Given the description of an element on the screen output the (x, y) to click on. 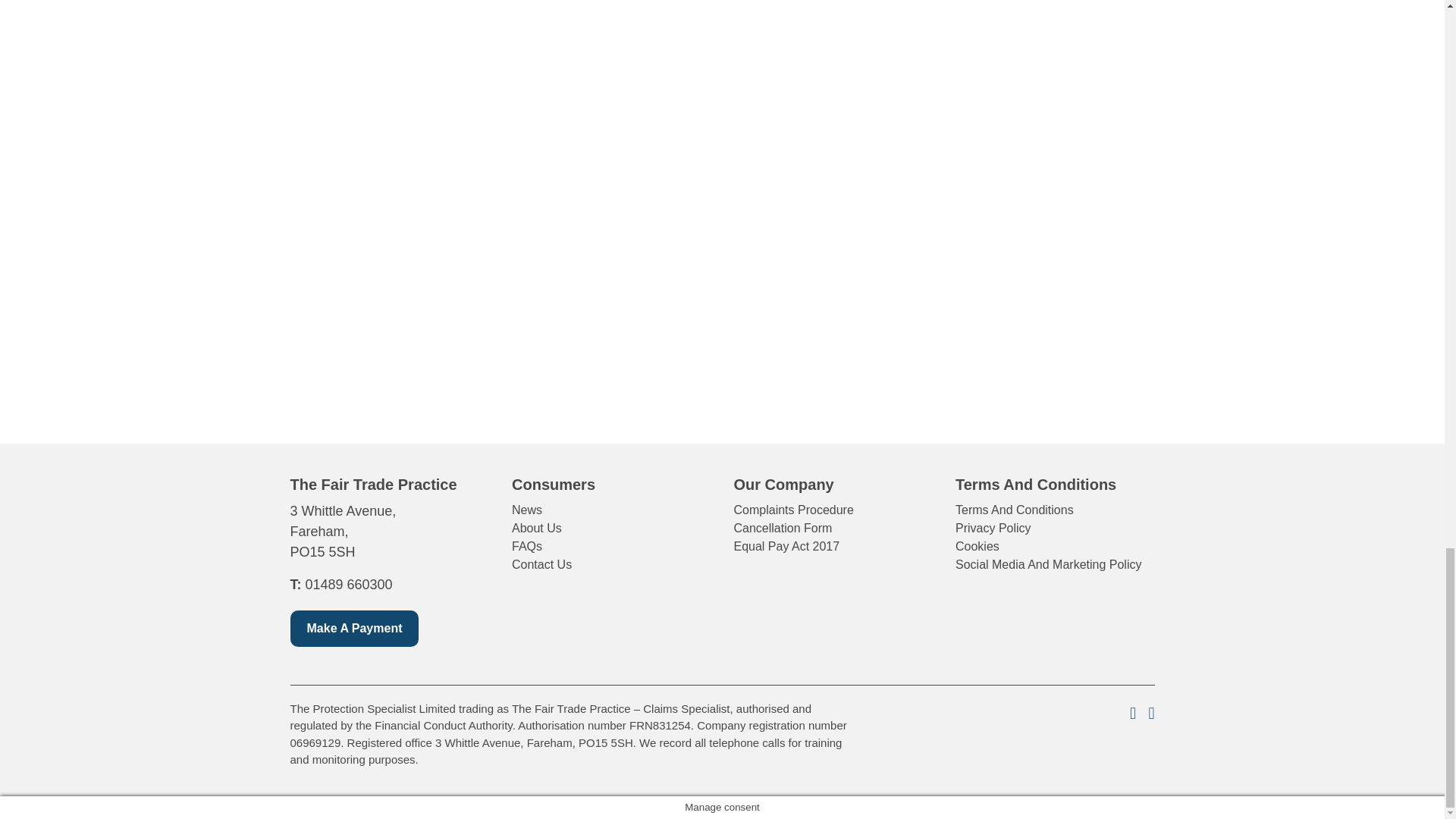
Contact Us (542, 563)
Complaints Procedure (793, 509)
FAQs (526, 545)
About Us (537, 527)
Submit (1117, 412)
Cancellation Form (782, 527)
News (526, 509)
Terms And Conditions (1014, 509)
Make A Payment (354, 628)
Equal Pay Act 2017 (786, 545)
